Given the description of an element on the screen output the (x, y) to click on. 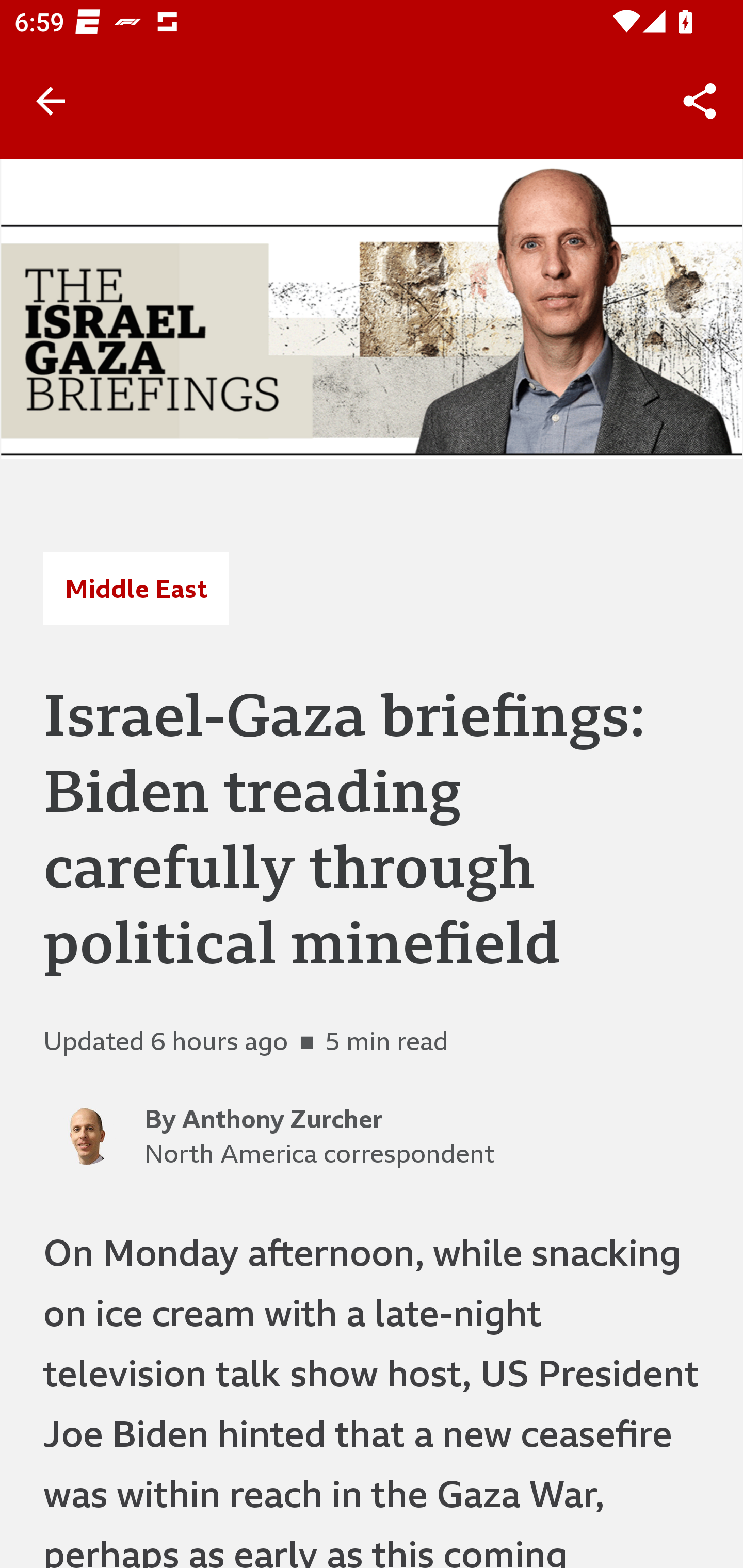
Back (50, 101)
Share (699, 101)
The Israel Gaza Briefings: Anthony Zurcher (371, 307)
Middle East (135, 588)
